Given the description of an element on the screen output the (x, y) to click on. 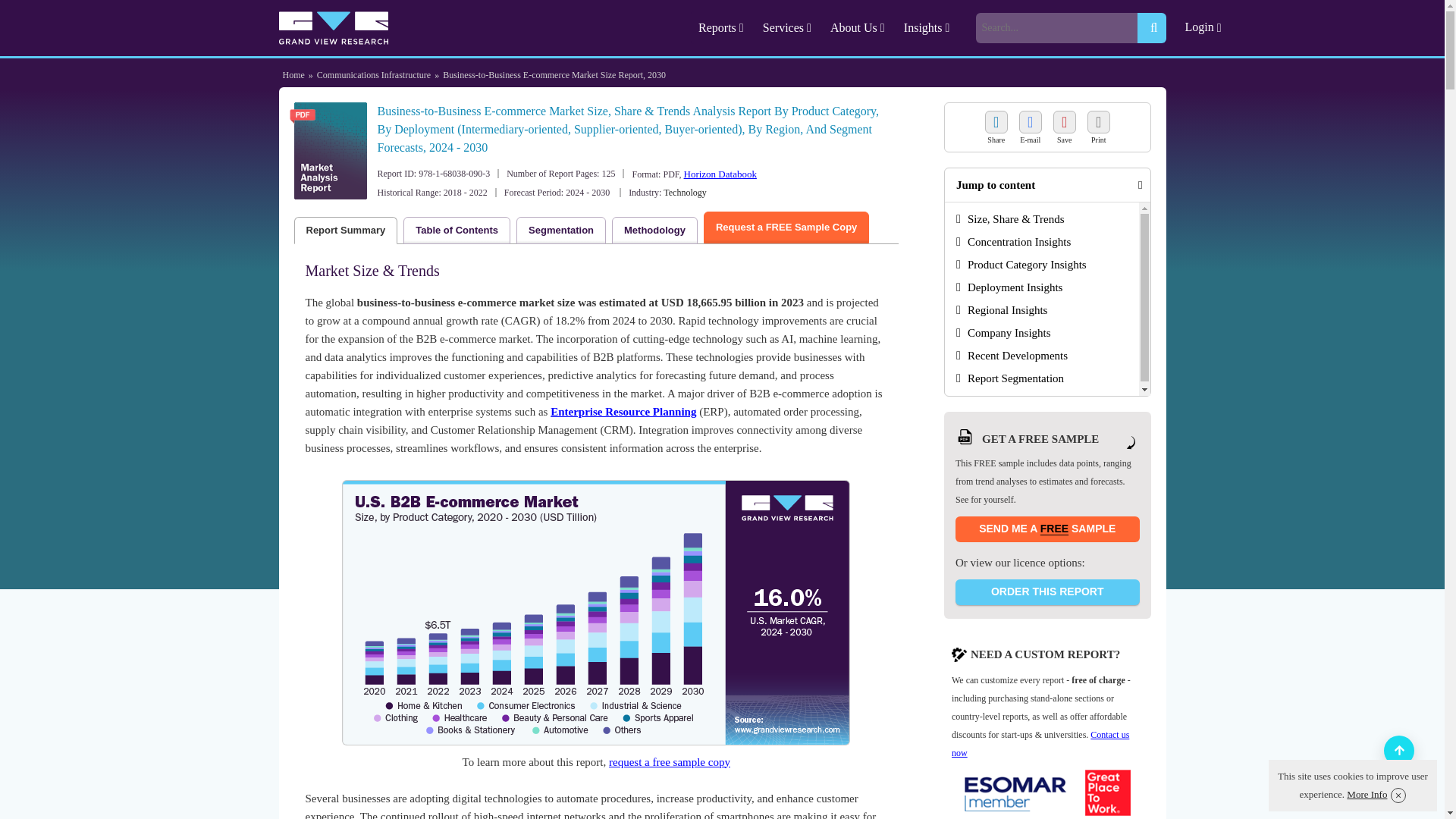
Reports (722, 27)
